Given the description of an element on the screen output the (x, y) to click on. 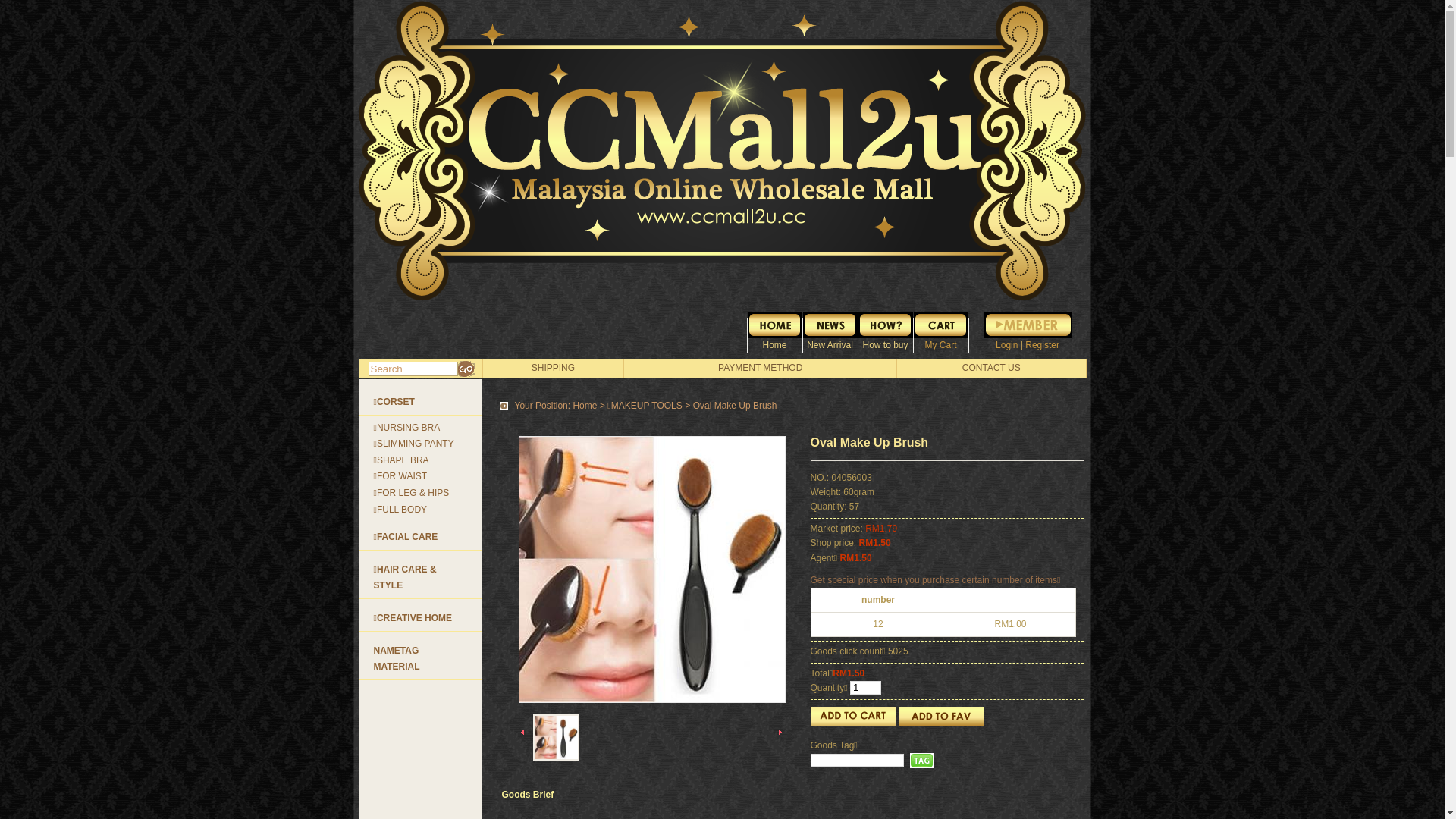
PAYMENT METHOD Element type: text (760, 367)
My Cart Element type: text (940, 331)
Home Element type: text (584, 405)
Search Element type: text (413, 367)
SHIPPING Element type: text (552, 367)
Home Element type: text (774, 331)
Oval Make Up Brush Element type: hover (651, 569)
CONTACT US Element type: text (991, 367)
Register Element type: text (1042, 344)
NAMETAG MATERIAL Element type: text (396, 658)
How to buy Element type: text (885, 331)
Login Element type: text (1006, 344)
New Arrival Element type: text (829, 331)
